Given the description of an element on the screen output the (x, y) to click on. 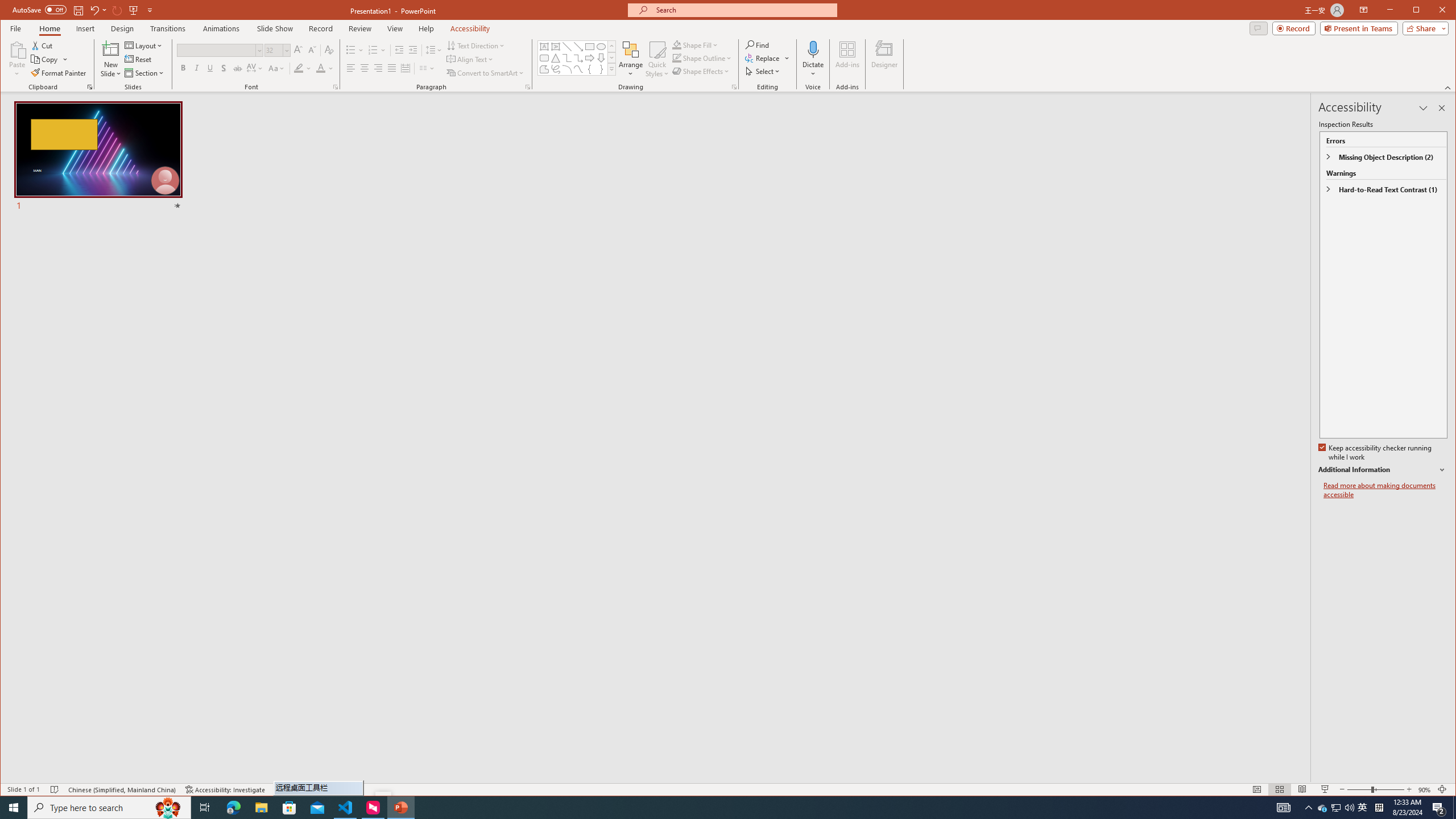
Justify (391, 68)
Arc (567, 69)
Oval (601, 46)
Connector: Elbow Arrow (577, 57)
Clear Formatting (328, 49)
Reset (138, 59)
Isosceles Triangle (556, 57)
Bold (182, 68)
Rectangle: Rounded Corners (544, 57)
